Given the description of an element on the screen output the (x, y) to click on. 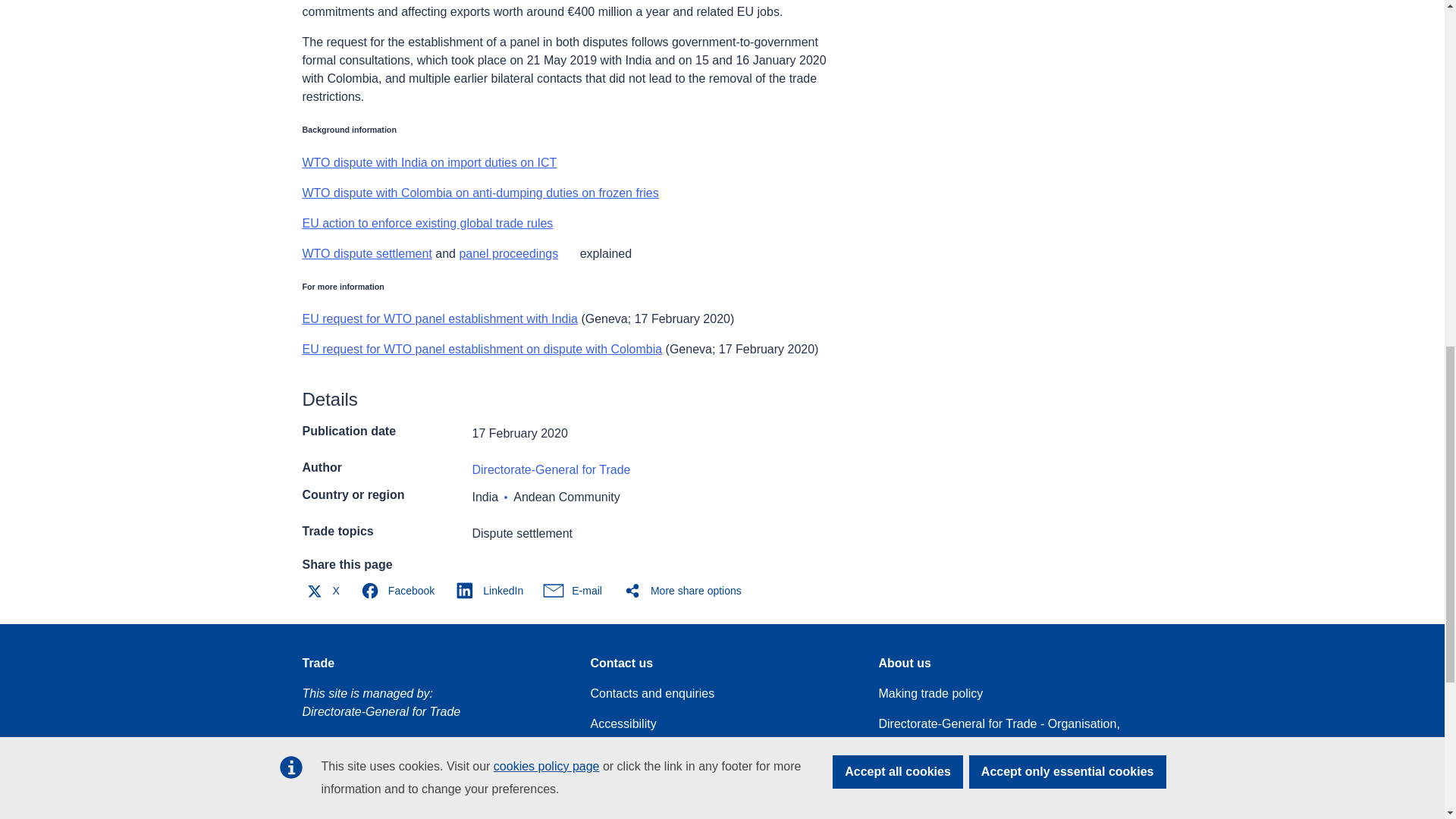
X (324, 590)
Directorate-General for Trade (550, 469)
E-mail (576, 590)
LinkedIn (492, 590)
Facebook (401, 590)
Trade (317, 663)
WTO dispute with India on import duties on ICT (428, 162)
More share options (685, 590)
WTO dispute settlement (365, 253)
